Given the description of an element on the screen output the (x, y) to click on. 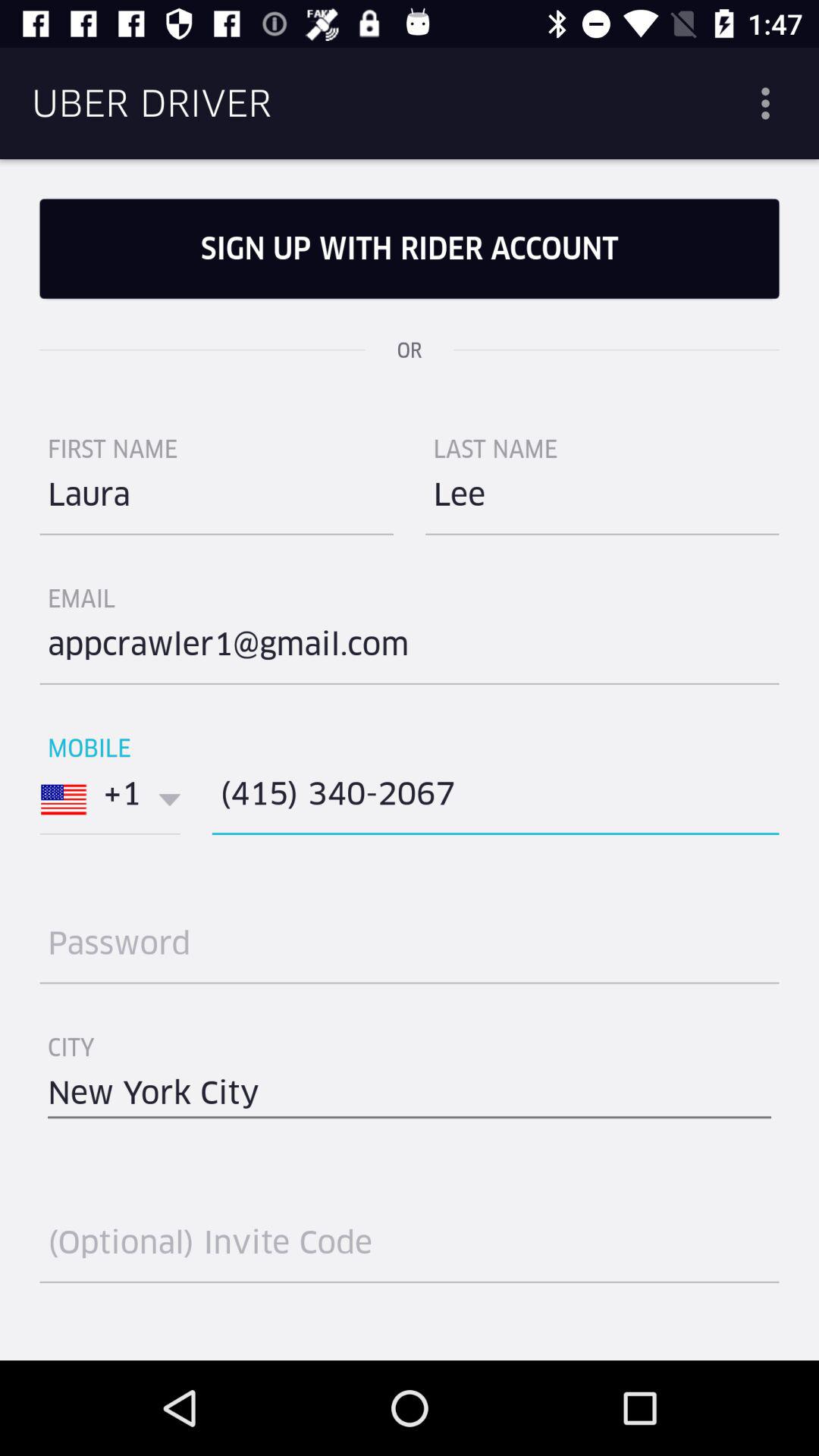
scroll to the (415) 340-2067 item (495, 799)
